Given the description of an element on the screen output the (x, y) to click on. 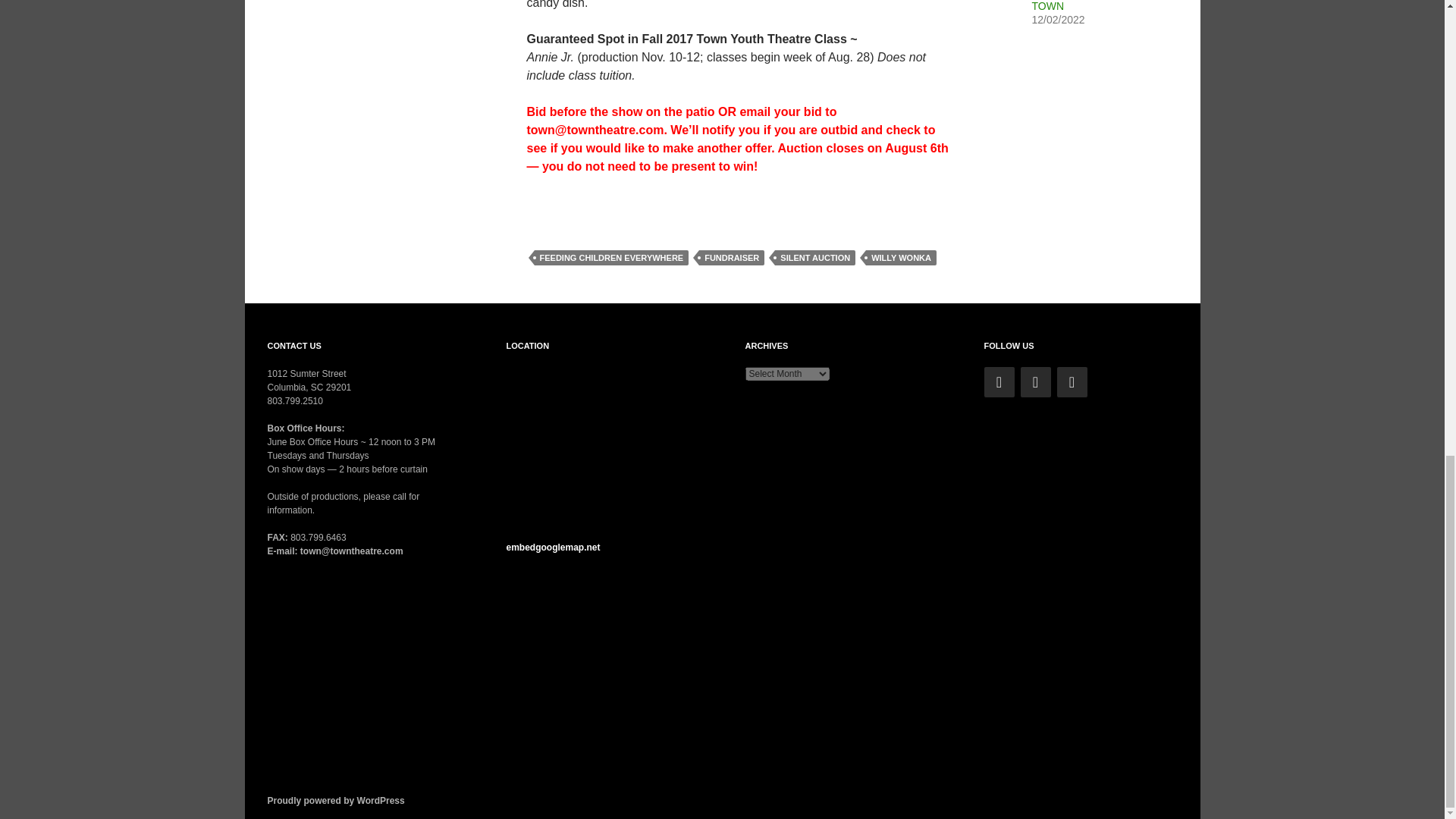
Twitter (999, 381)
Instagram (1072, 381)
FEEDING CHILDREN EVERYWHERE (611, 257)
Facebook (1035, 381)
